Given the description of an element on the screen output the (x, y) to click on. 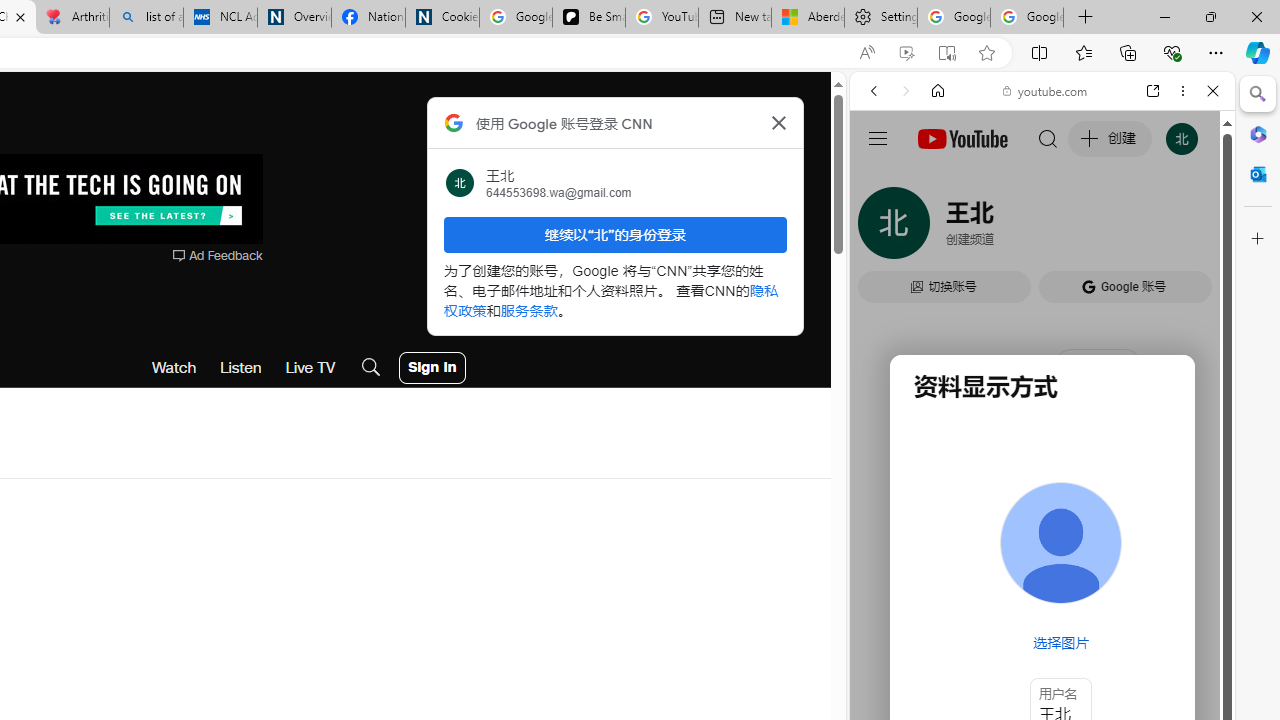
Trailer #2 [HD] (1042, 592)
youtube.com (1046, 90)
Search Filter, IMAGES (939, 228)
Be Smart | creating Science videos | Patreon (588, 17)
